Given the description of an element on the screen output the (x, y) to click on. 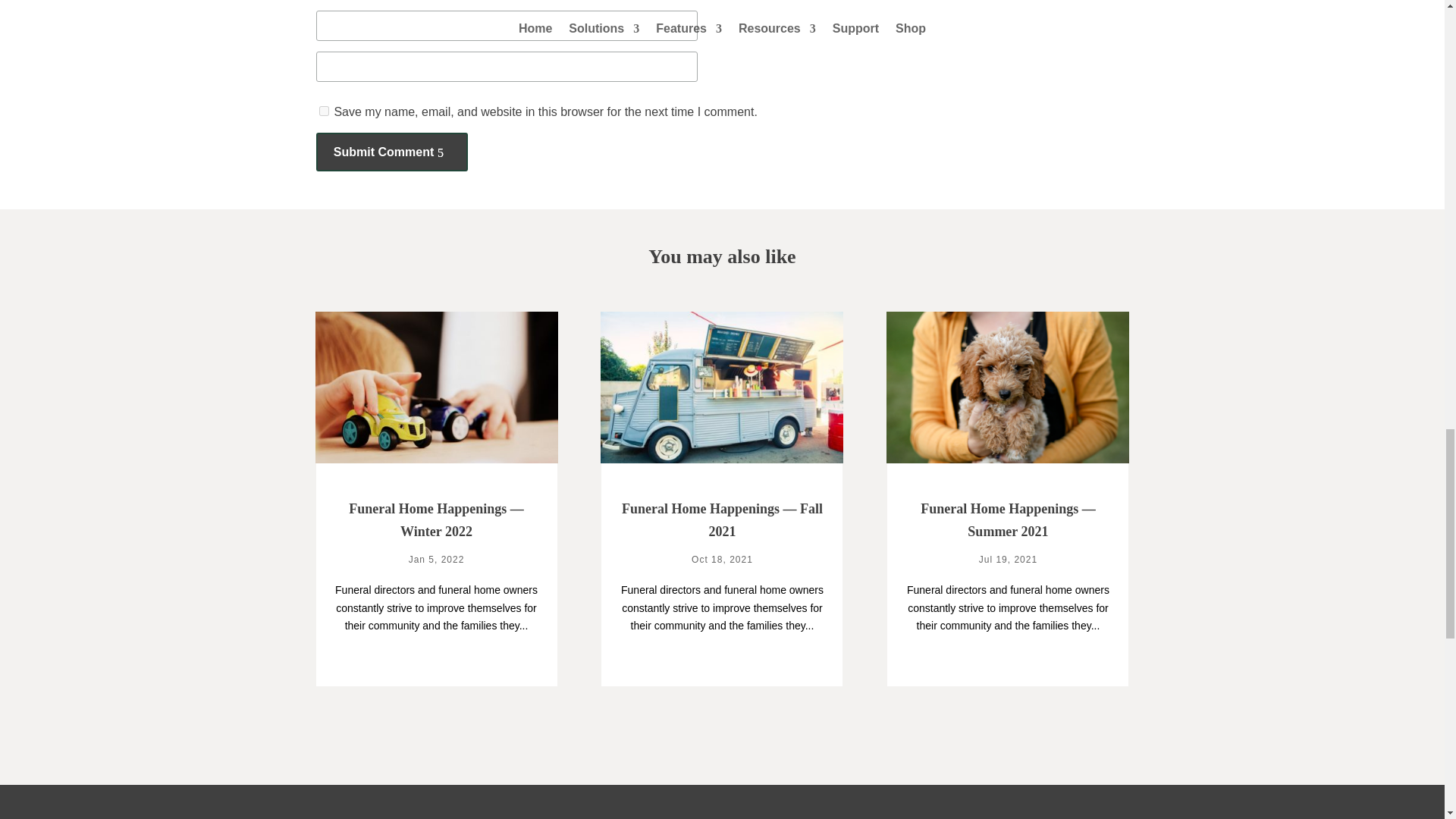
yes (323, 111)
